Given the description of an element on the screen output the (x, y) to click on. 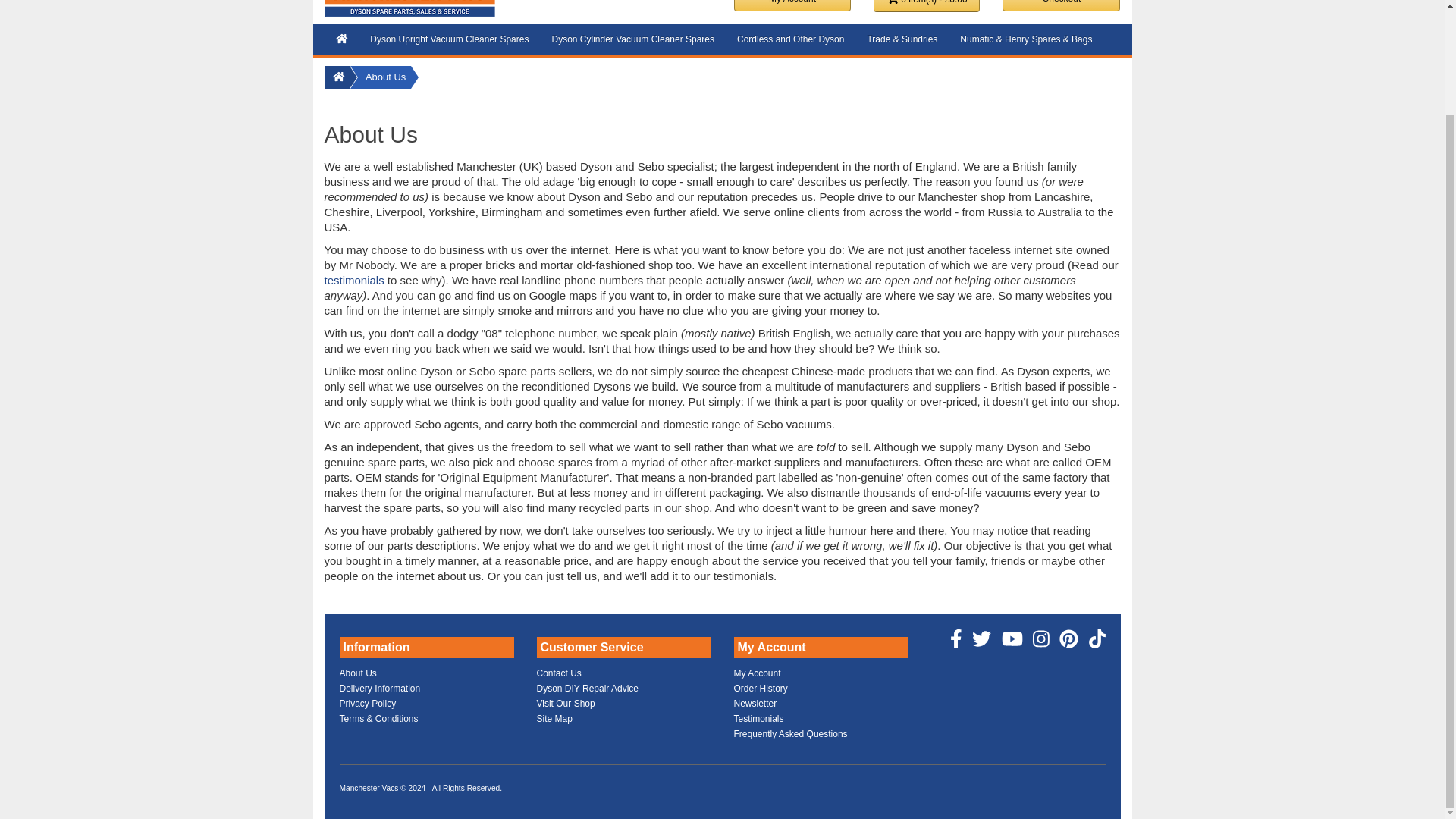
Dyson Cylinder Vacuum Cleaner Spares (632, 39)
My Account (792, 5)
Dyson Upright Vacuum Cleaner Spares (449, 39)
Checkout (1061, 5)
Manchester Vacs (409, 8)
